Given the description of an element on the screen output the (x, y) to click on. 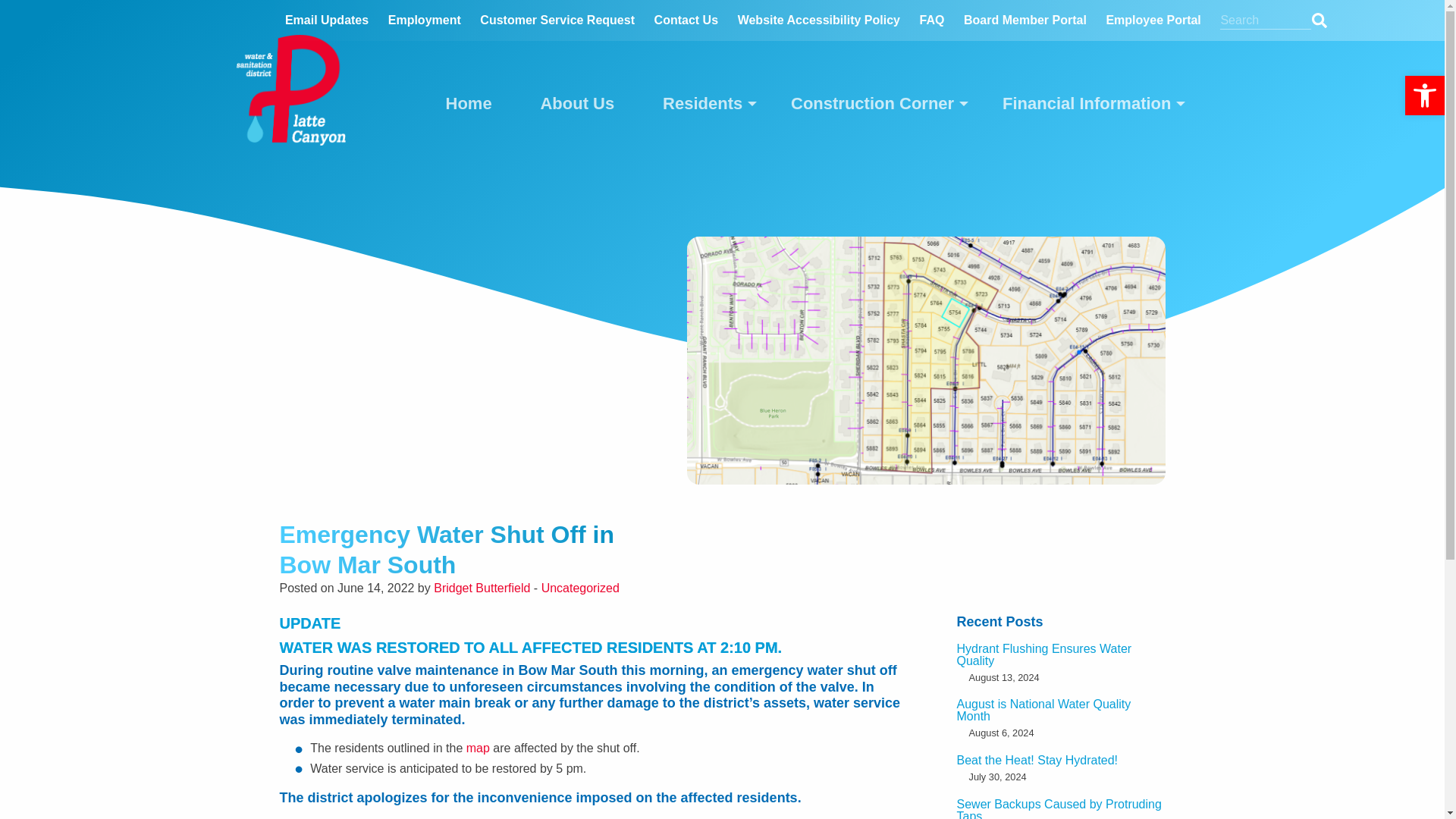
Posts by Bridget Butterfield (481, 587)
Accessibility Tools (1424, 95)
Email Updates (326, 19)
Employee Portal (1152, 20)
Residents (702, 103)
Contact Us (685, 20)
Customer Service Request (557, 20)
FAQ (932, 20)
Employment (424, 20)
Website Accessibility Policy (818, 20)
